Given the description of an element on the screen output the (x, y) to click on. 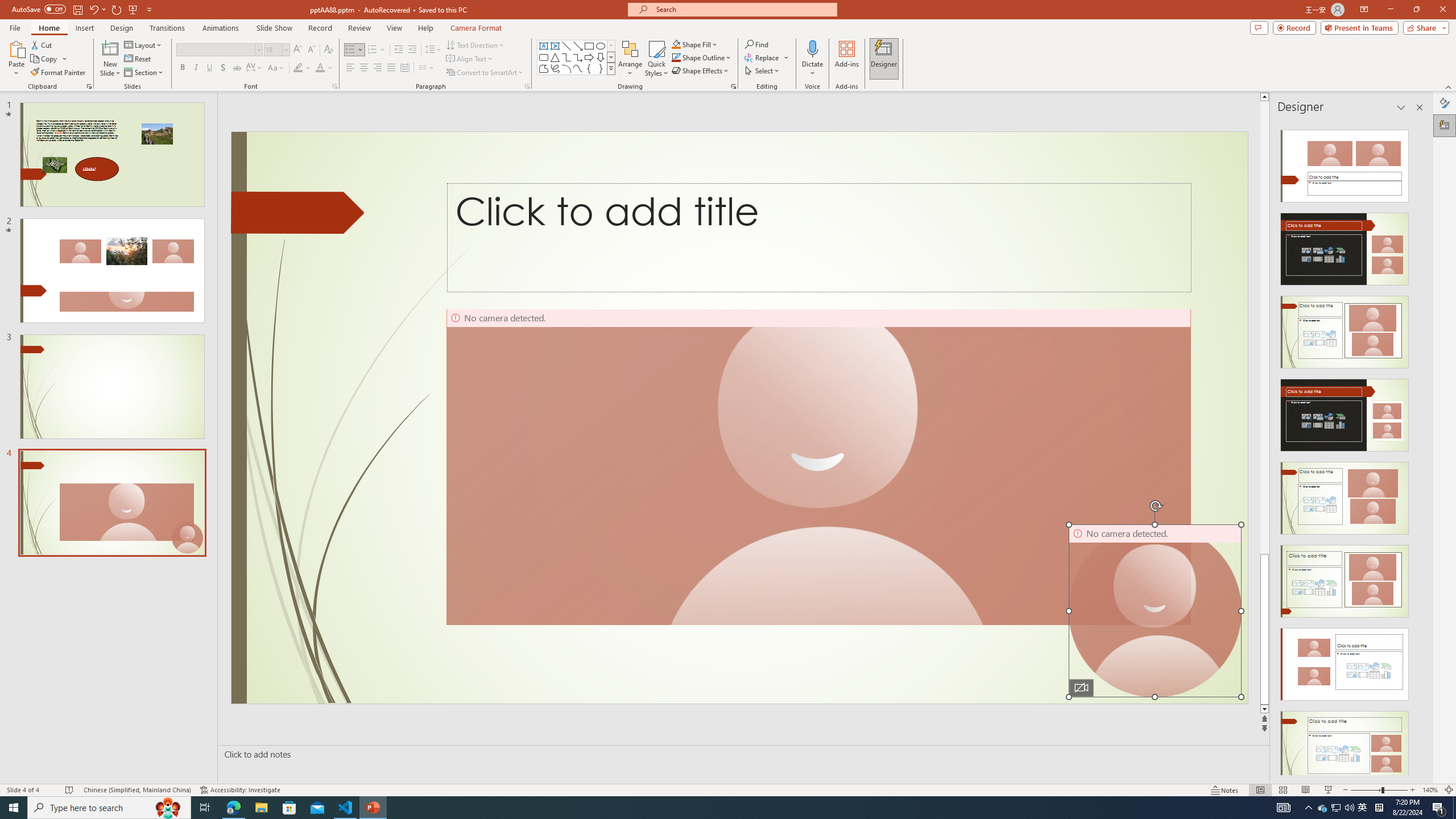
Review (359, 28)
Close (1442, 9)
Slide Show (273, 28)
Line Spacing (433, 49)
Increase Font Size (297, 49)
Animations (220, 28)
Curve (577, 68)
Quick Styles (656, 58)
Customize Quick Access Toolbar (149, 9)
Text Box (543, 45)
Shape Fill Aqua, Accent 2 (675, 44)
New Slide (110, 48)
Font Color (324, 67)
